Given the description of an element on the screen output the (x, y) to click on. 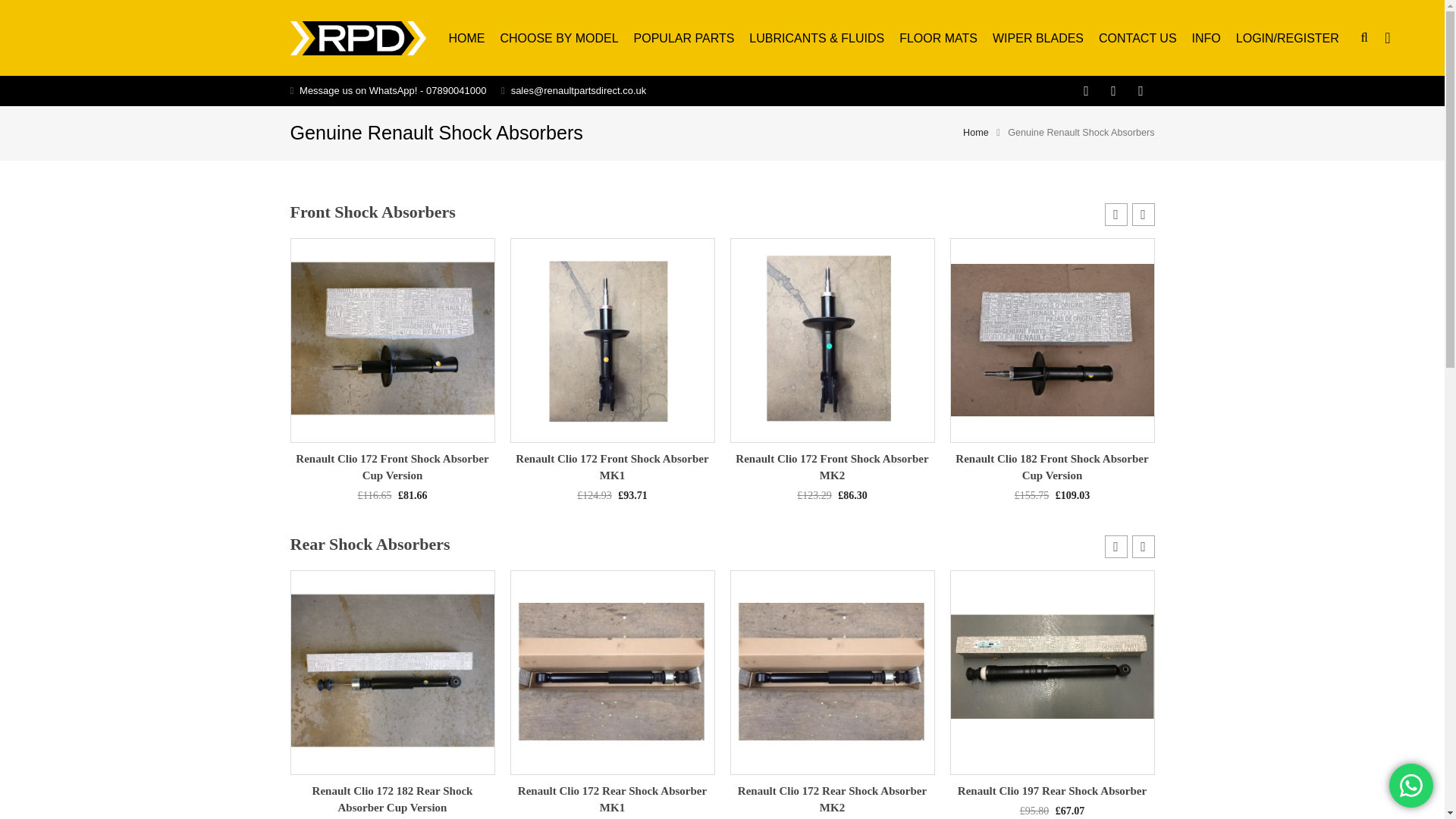
CHOOSE BY MODEL (559, 37)
WIPER BLADES (1037, 37)
Renault Clio 172 Front Shock Absorber Cup Version (391, 466)
FLOOR MATS (938, 37)
Home (975, 132)
POPULAR PARTS (684, 37)
CONTACT US (1137, 37)
INFO (1206, 37)
WhatsApp us (1410, 785)
HOME (466, 37)
